Given the description of an element on the screen output the (x, y) to click on. 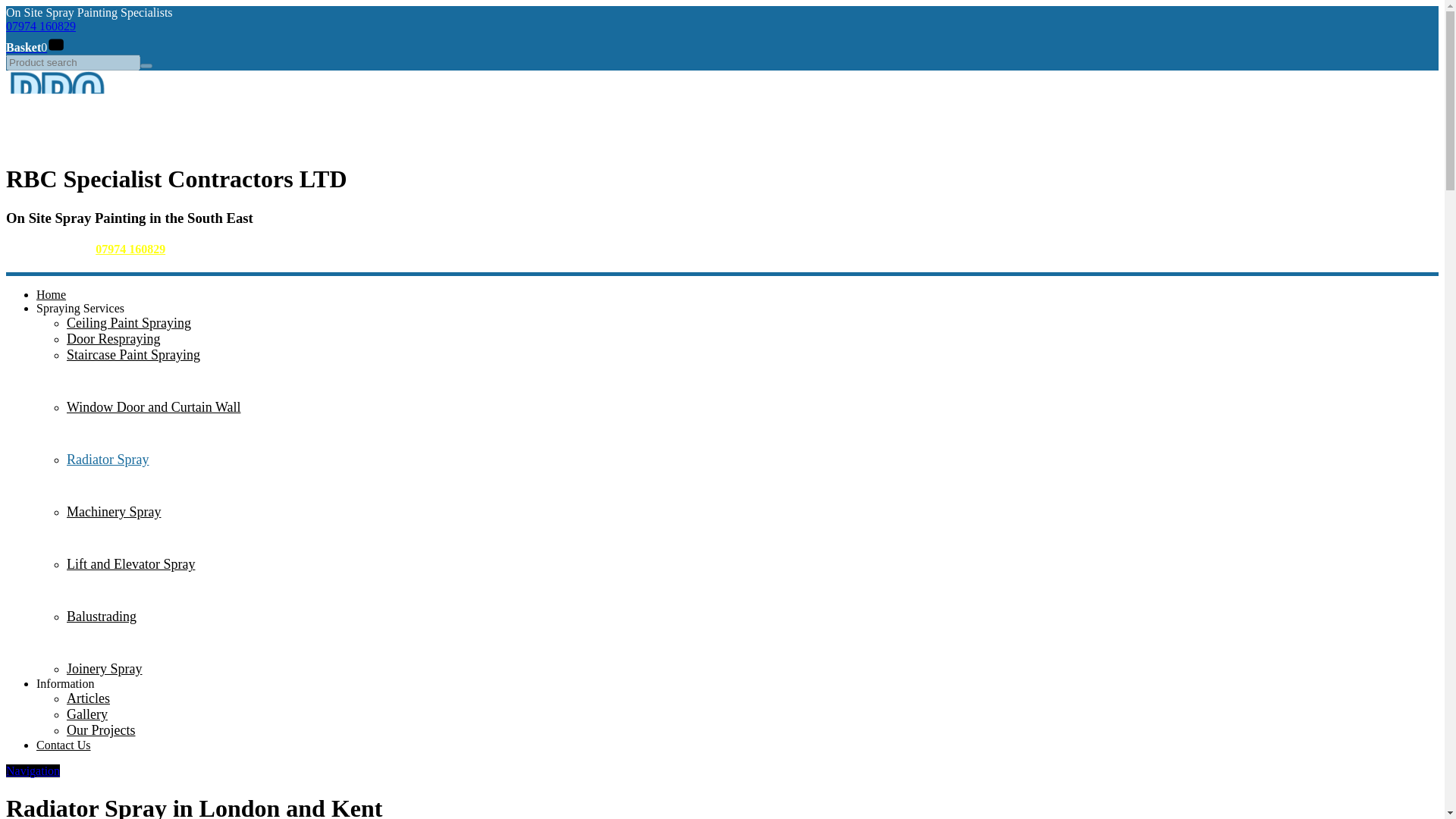
Door Respraying (113, 338)
Balustrading (101, 616)
Machinery Spray (113, 511)
Staircase Paint Spraying (133, 354)
Home (50, 294)
Articles (88, 698)
Machinery Spray (113, 511)
Home (55, 141)
Bag Handle (55, 42)
Information (65, 683)
Home (50, 294)
Window Door and Curtain Wall (153, 406)
Contact Us (63, 744)
Window Door and Curtain Wall (153, 406)
Radiator Spray (107, 459)
